Given the description of an element on the screen output the (x, y) to click on. 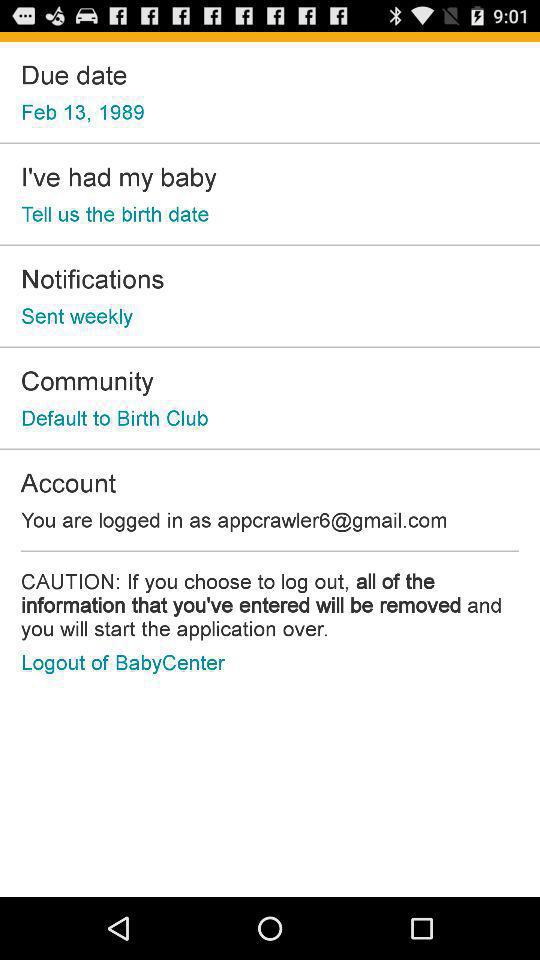
turn on item below the caution if you icon (122, 662)
